Given the description of an element on the screen output the (x, y) to click on. 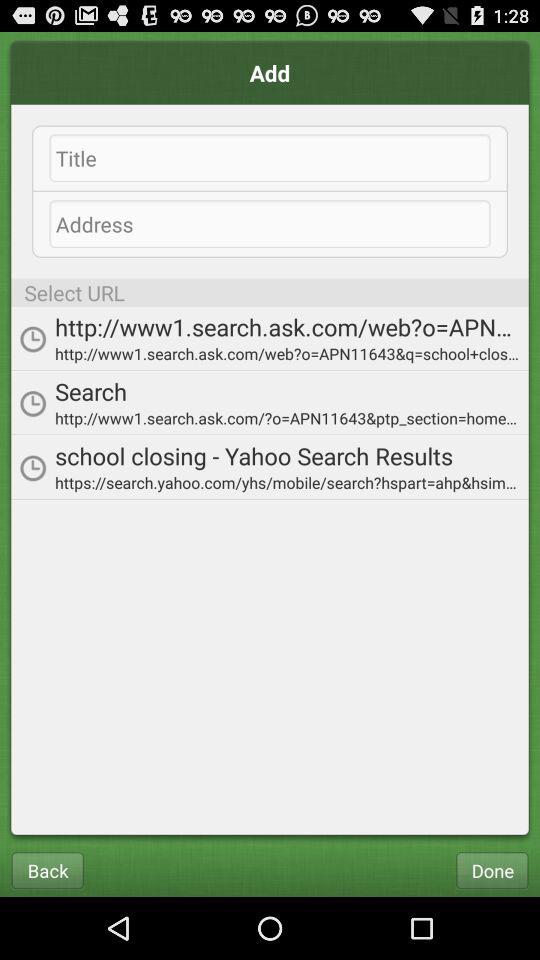
choose the icon below the https search yahoo item (492, 870)
